Given the description of an element on the screen output the (x, y) to click on. 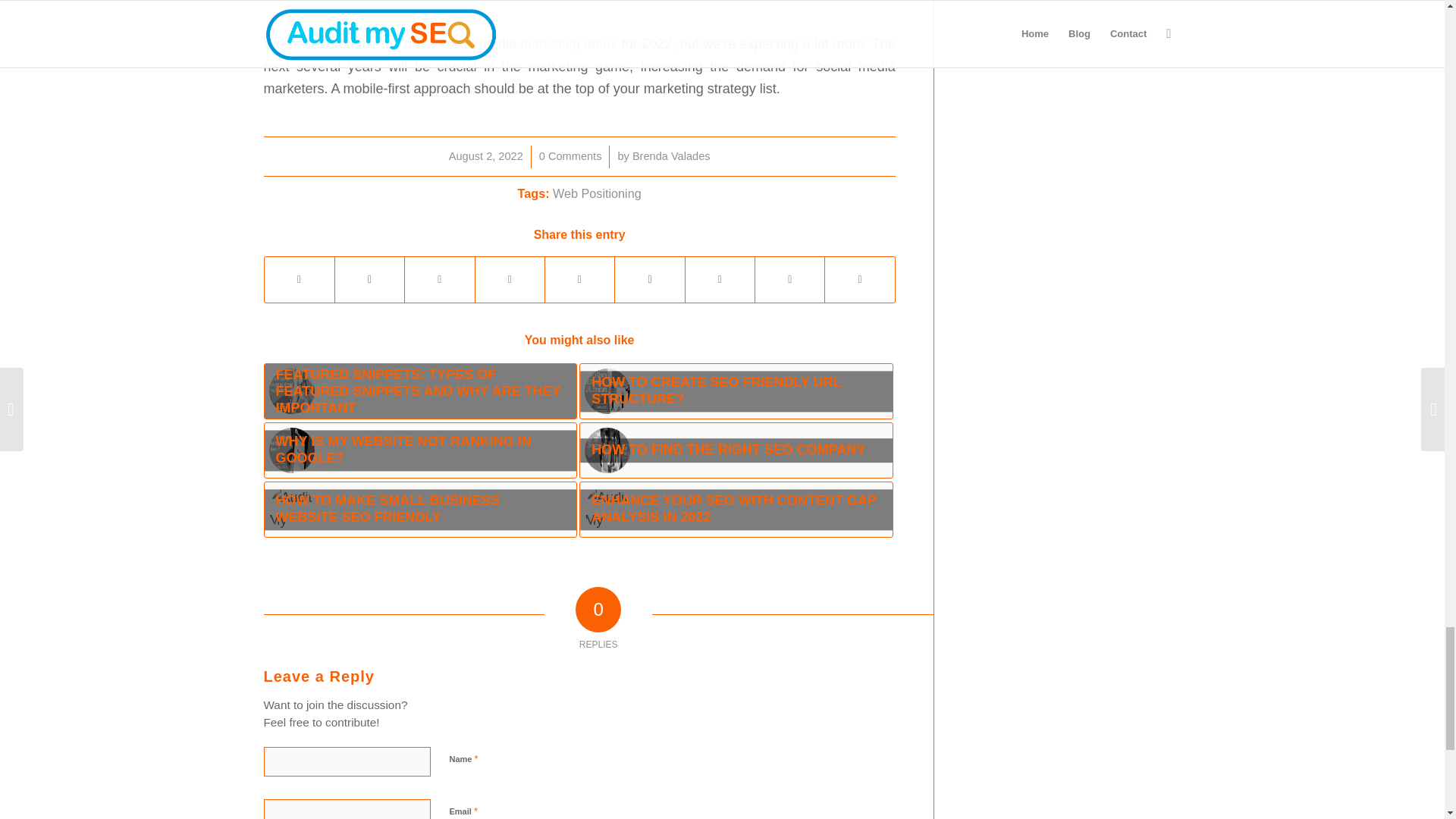
WHY IS MY WEBSITE NOT RANKING IN GOOGLE? (420, 450)
ENHANCE YOUR SEO WITH CONTENT GAP ANALYSIS IN 2022 (736, 509)
marketing ideas (568, 43)
HOW TO MAKE SMALL BUSINESS WEBSITE SEO FRIENDLY (420, 509)
0 Comments (570, 155)
Brenda Valades (670, 155)
HOW TO CREATE SEO FRIENDLY URL STRUCTURE? (736, 391)
HOW TO FIND THE RIGHT SEO COMPANY (736, 450)
Posts by Brenda Valades (670, 155)
Web Positioning (597, 192)
